Given the description of an element on the screen output the (x, y) to click on. 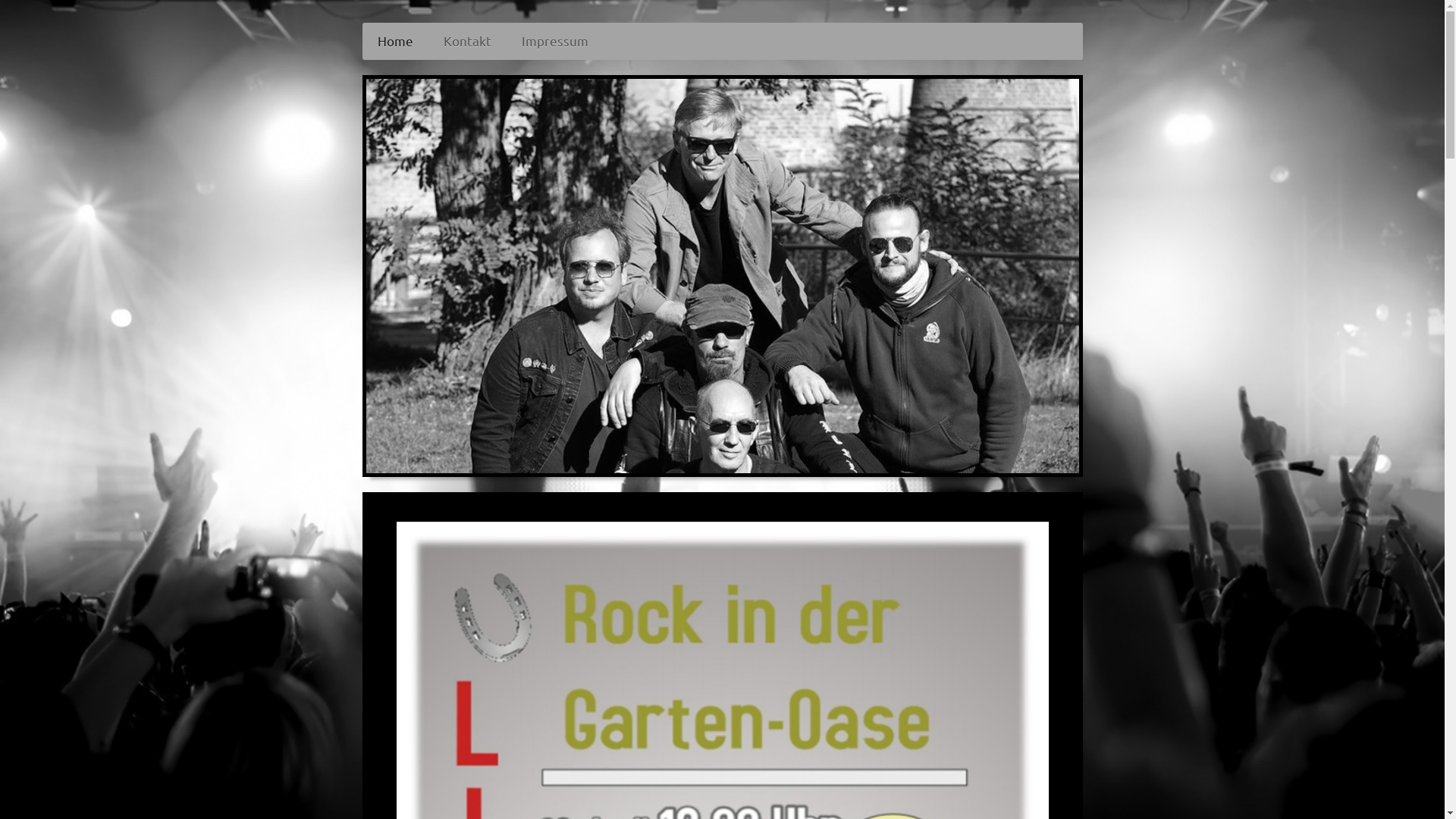
Impressum Element type: text (554, 40)
Kontakt Element type: text (466, 40)
Home Element type: text (395, 40)
